Given the description of an element on the screen output the (x, y) to click on. 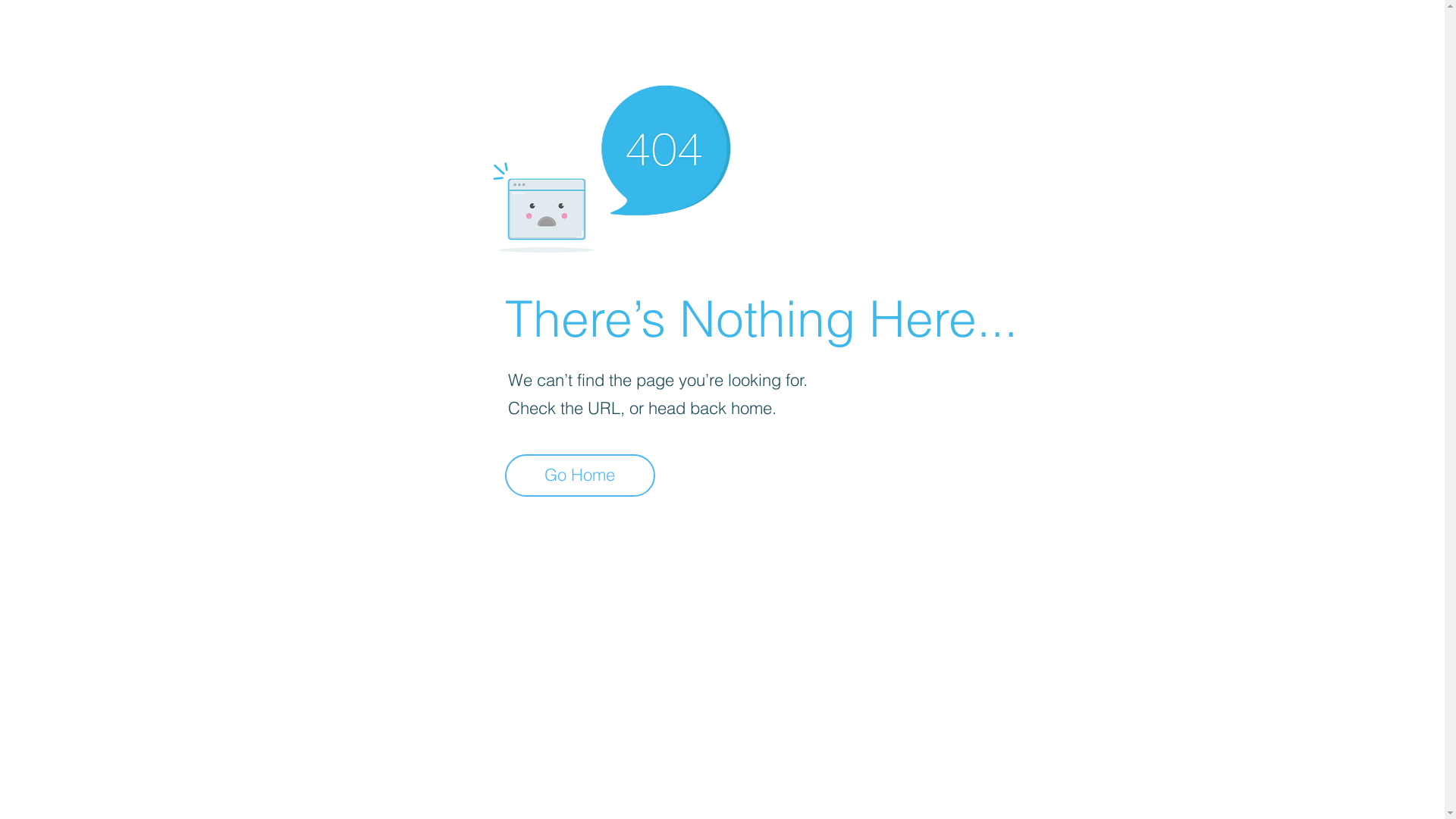
Go Home Element type: text (580, 475)
404-icon_2.png Element type: hover (610, 164)
